Given the description of an element on the screen output the (x, y) to click on. 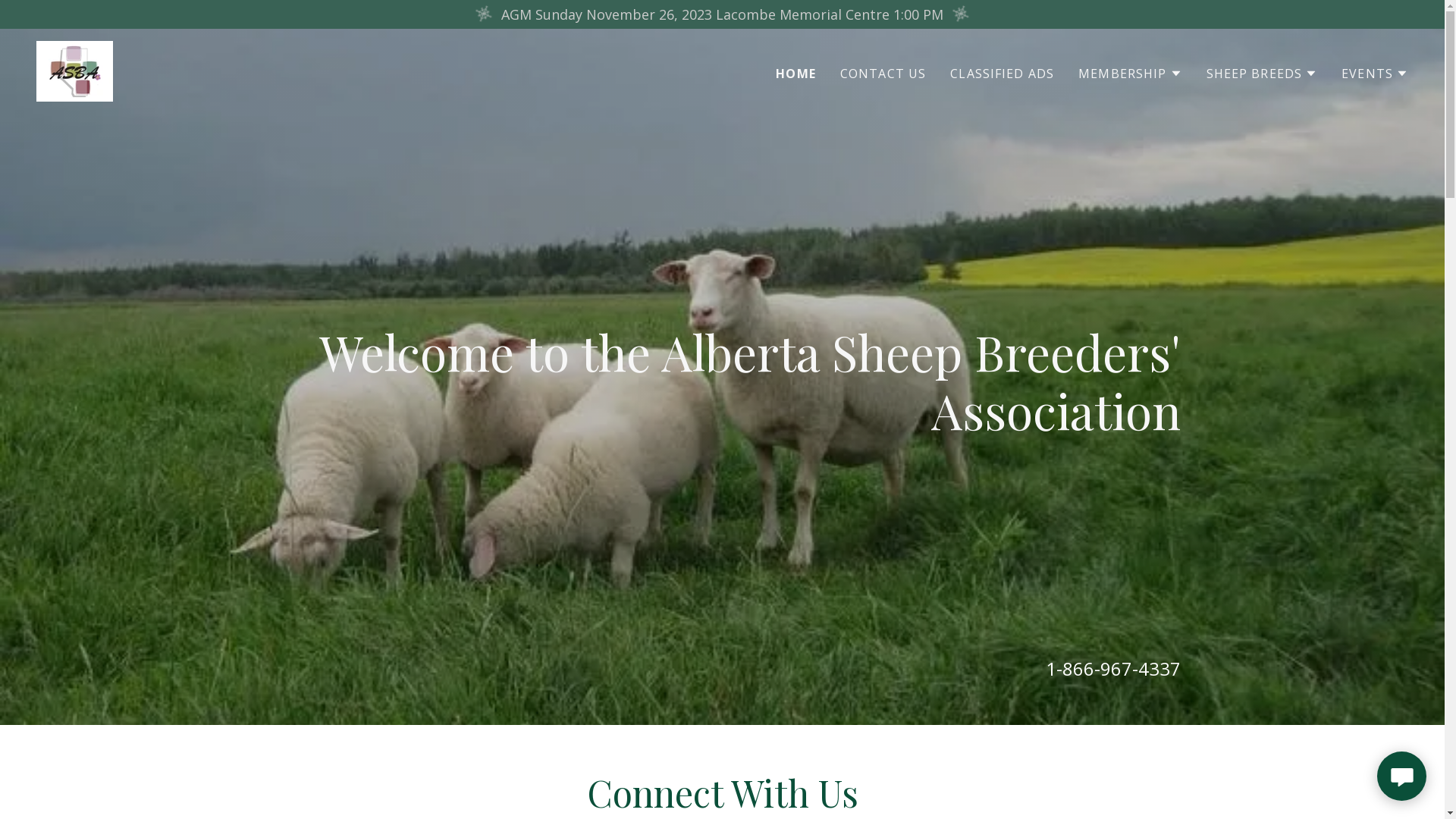
EVENTS Element type: text (1374, 72)
MEMBERSHIP Element type: text (1129, 72)
SHEEP BREEDS Element type: text (1261, 72)
HOME Element type: text (795, 72)
Alberta Sheep Breeders Element type: hover (74, 69)
CLASSIFIED ADS Element type: text (1001, 72)
CONTACT US Element type: text (882, 72)
1-866-967-4337 Element type: text (1112, 667)
AGM Sunday November 26, 2023 Lacombe Memorial Centre 1:00 PM Element type: text (722, 14)
